Given the description of an element on the screen output the (x, y) to click on. 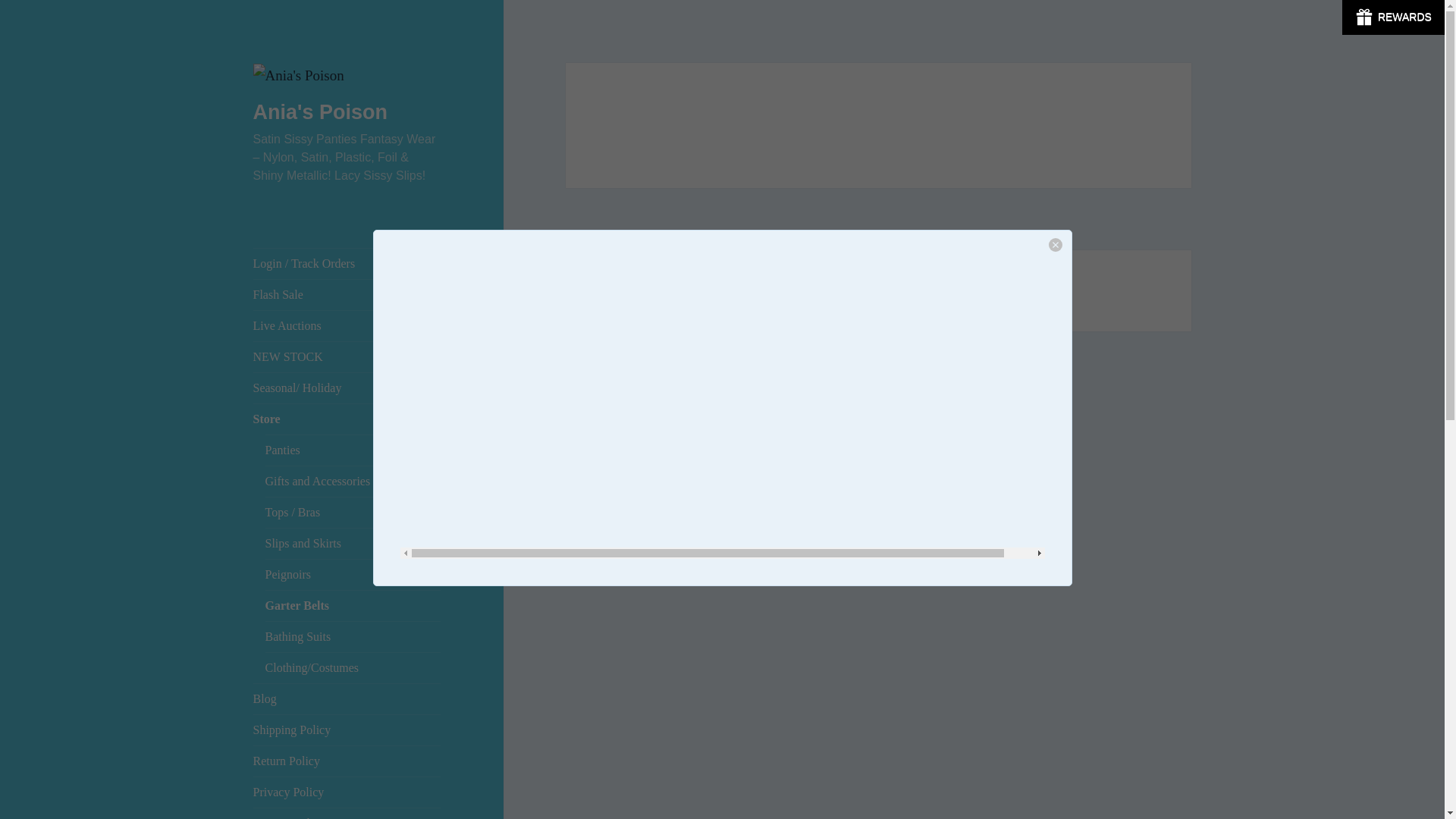
Live Auctions (347, 326)
expand child menu (428, 419)
NEW STOCK (347, 357)
Store (347, 419)
Gifts and Accessories (352, 481)
Panties (352, 450)
Peignoirs (352, 574)
Return Policy (347, 761)
Testimonials (347, 813)
Flash Sale (347, 295)
Blog (347, 698)
Slips and Skirts (352, 543)
expand child menu (428, 450)
Privacy Policy (347, 792)
Bathing Suits (352, 636)
